Given the description of an element on the screen output the (x, y) to click on. 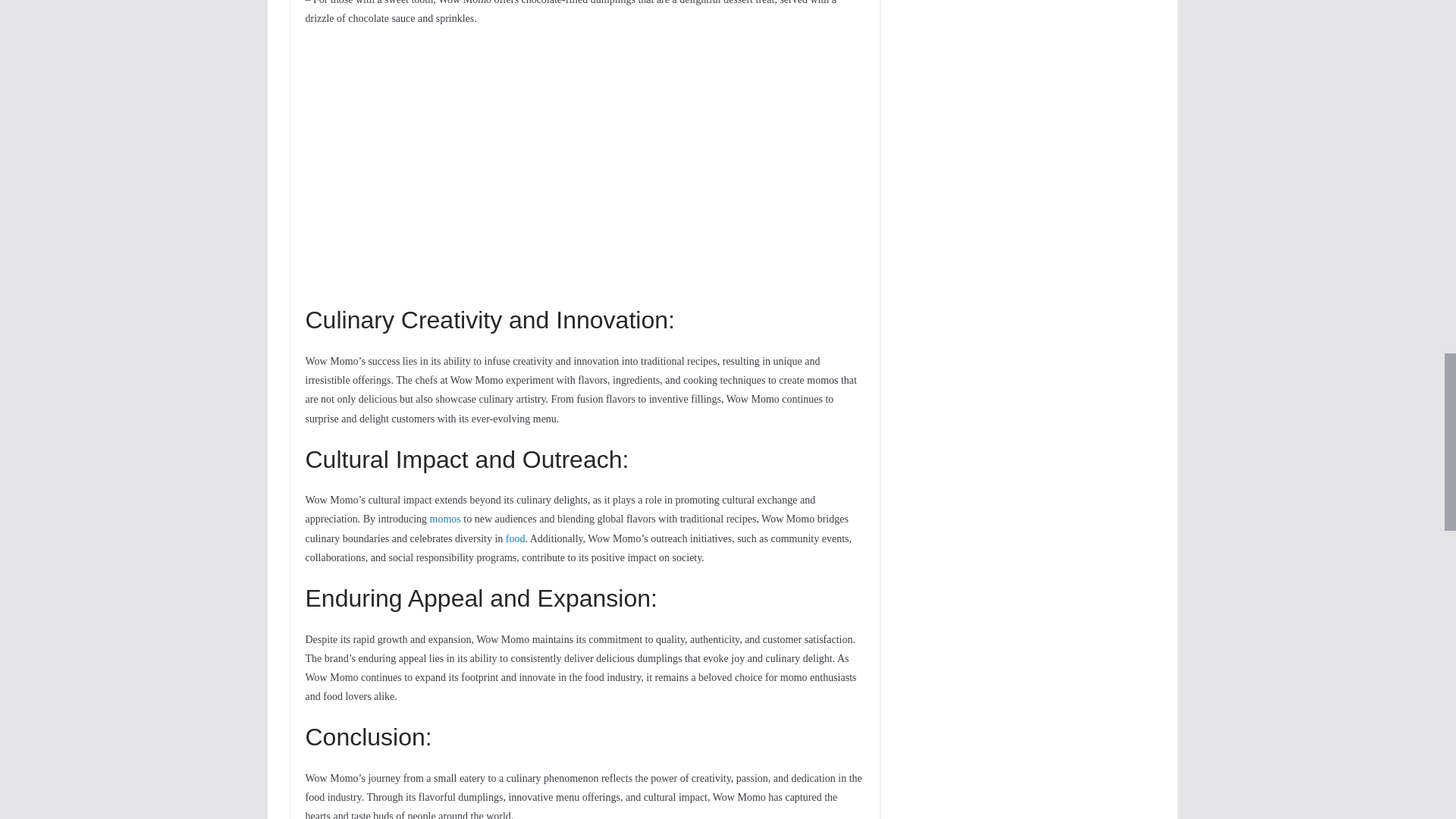
momos (445, 518)
food (515, 538)
YouTube video player (516, 163)
